Given the description of an element on the screen output the (x, y) to click on. 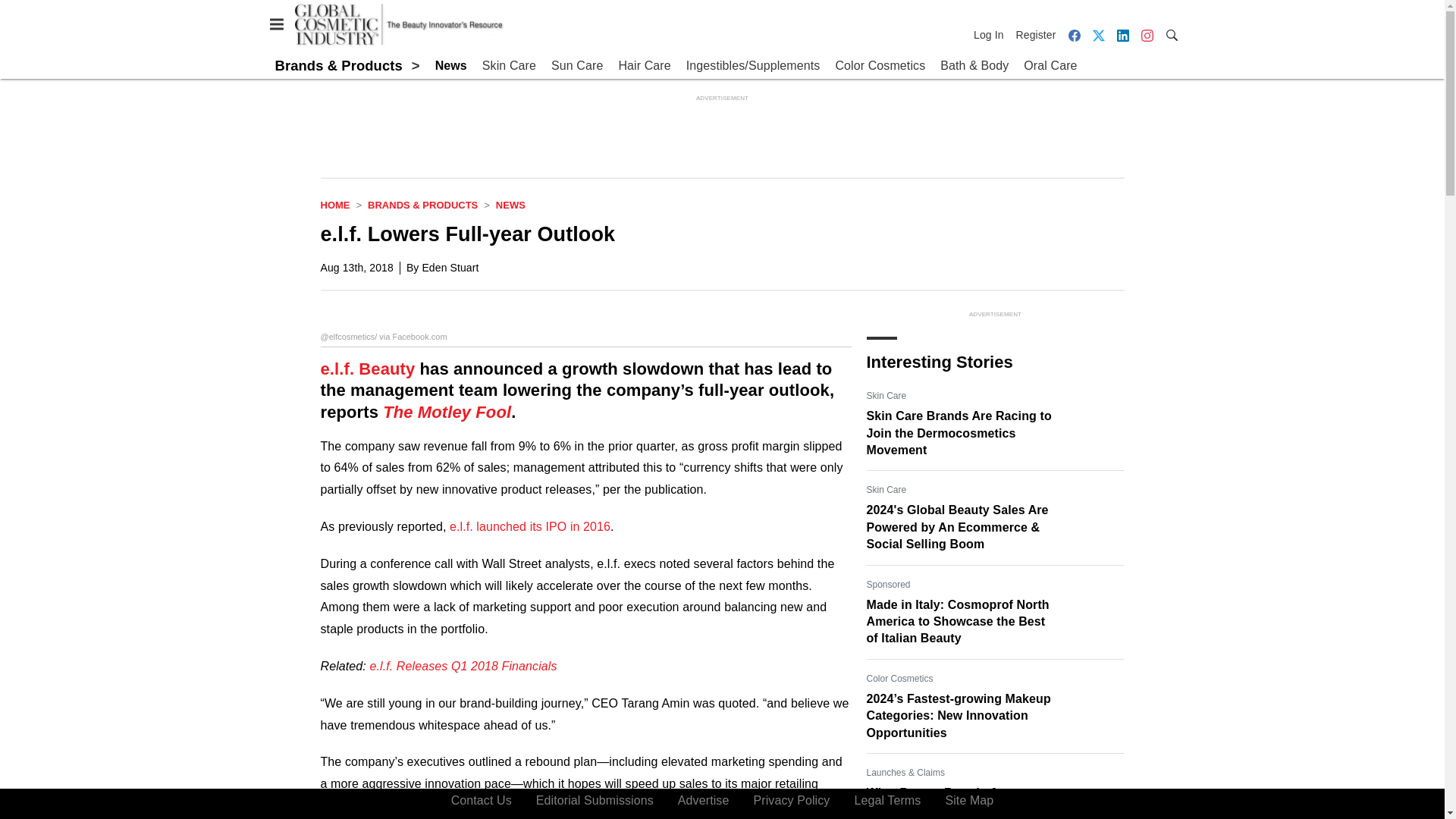
Hair Care (643, 66)
LinkedIn icon (1122, 35)
Twitter X icon (1097, 35)
Color Cosmetics (879, 66)
Register (1036, 34)
News (510, 204)
Facebook icon (1073, 35)
Skin Care (508, 66)
Instagram icon (1146, 35)
News (451, 66)
